Given the description of an element on the screen output the (x, y) to click on. 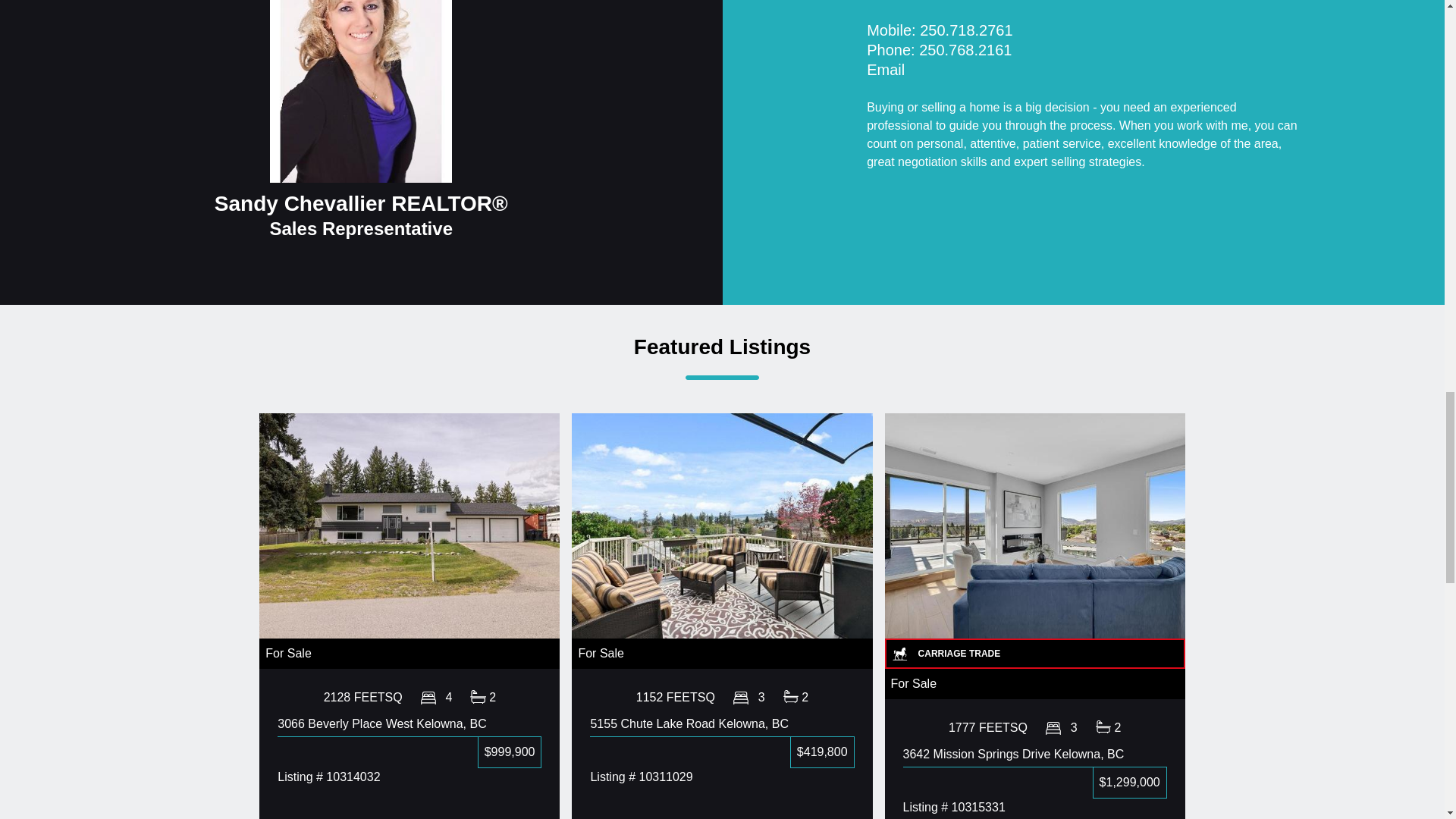
Sandy Chevallier (360, 91)
Email (885, 70)
